Given the description of an element on the screen output the (x, y) to click on. 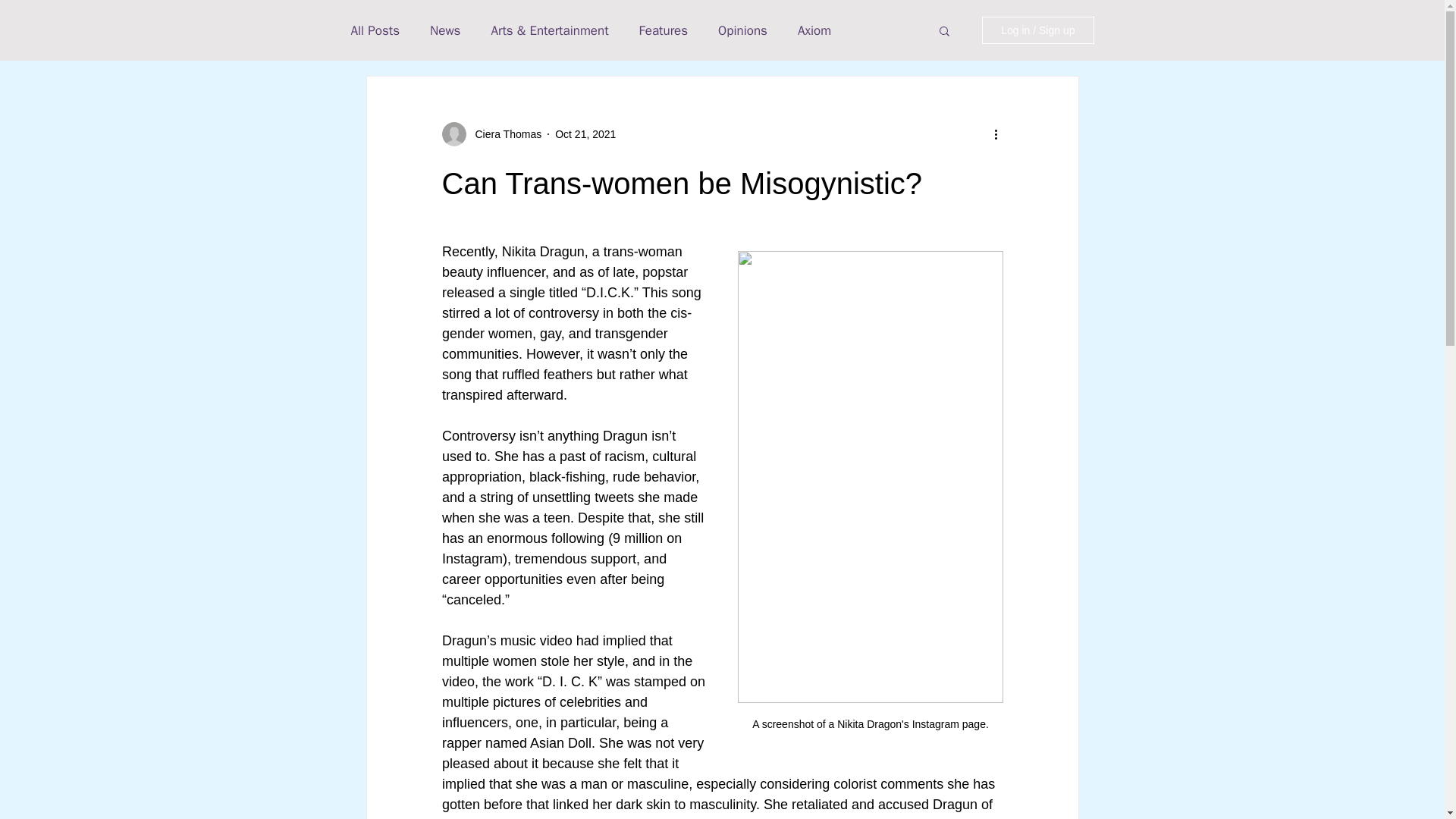
Ciera Thomas  (503, 133)
Opinions (742, 29)
Features (663, 29)
News (444, 29)
All Posts (374, 29)
Axiom (814, 29)
Oct 21, 2021 (584, 133)
